Given the description of an element on the screen output the (x, y) to click on. 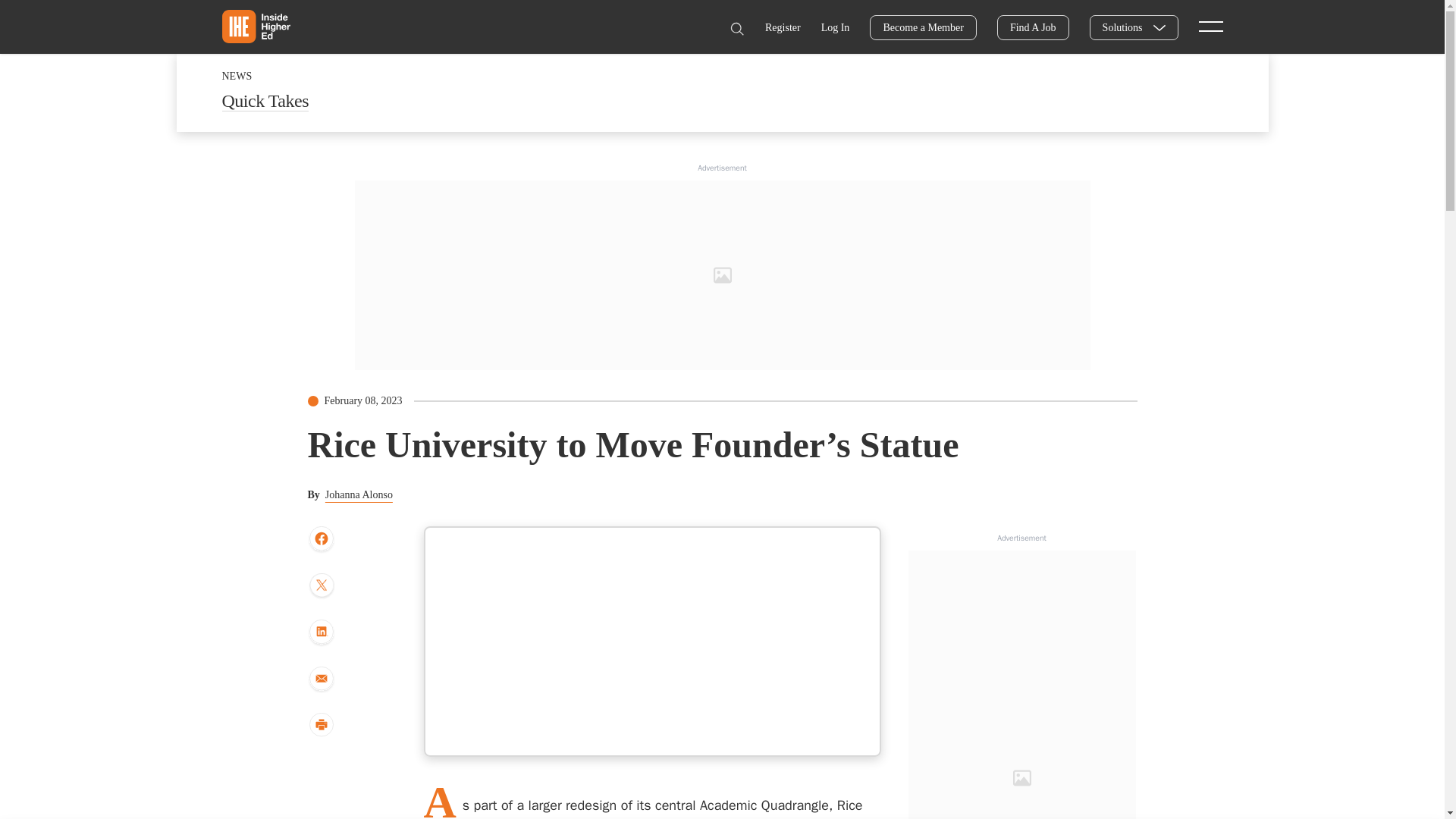
share by email (320, 679)
share to Linkedin (320, 632)
Find A Job (1032, 27)
Become a Member (922, 27)
Home (255, 26)
share to twitter (320, 586)
share to facebook (320, 539)
Search (736, 28)
